Given the description of an element on the screen output the (x, y) to click on. 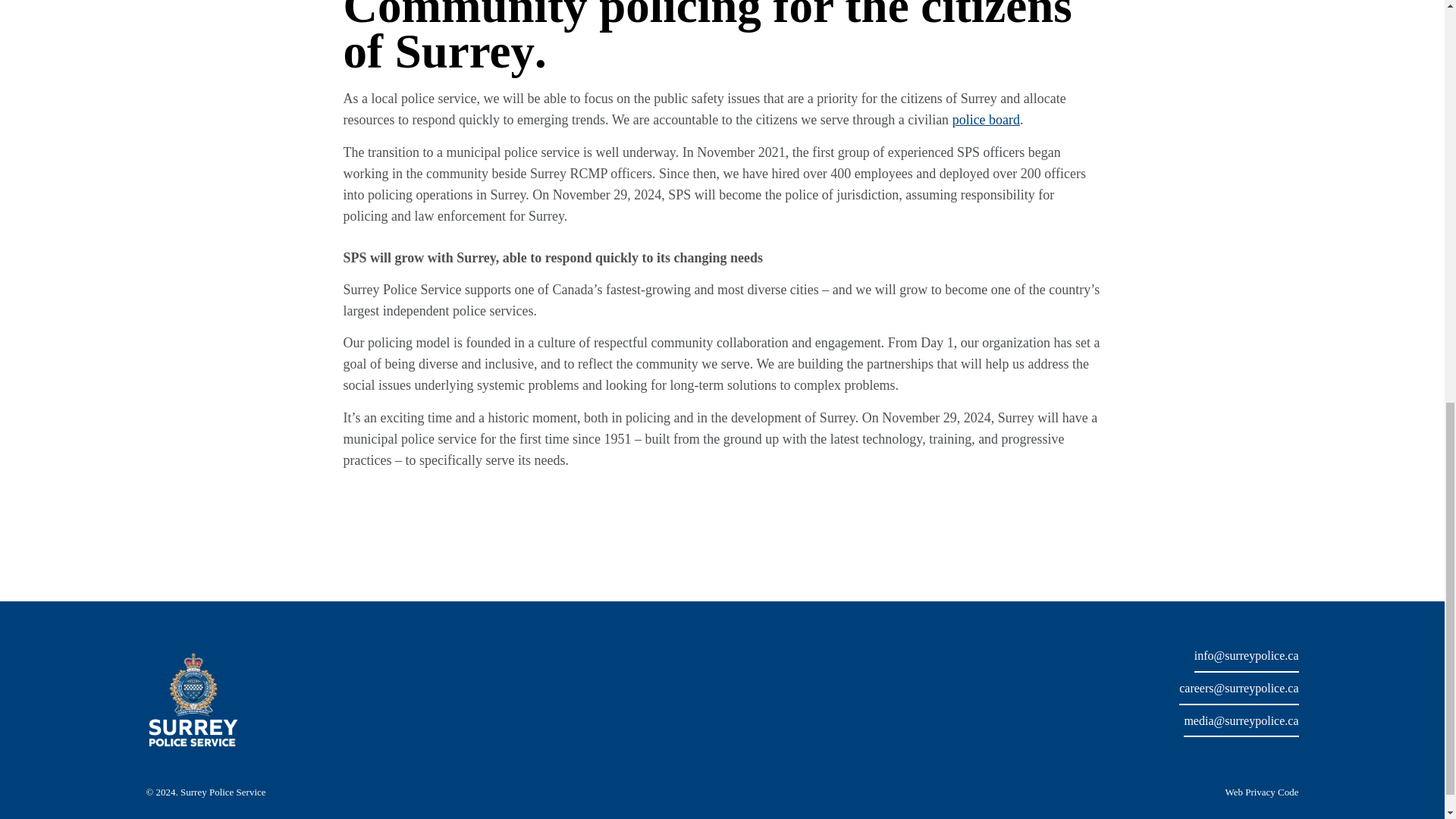
Follow us on Instagram (1233, 751)
Follow us on LinkedIN (1285, 752)
Follow us on Twitter (1181, 751)
Follow us on Youtube (1259, 752)
Follow us on Facebook (1206, 751)
